Given the description of an element on the screen output the (x, y) to click on. 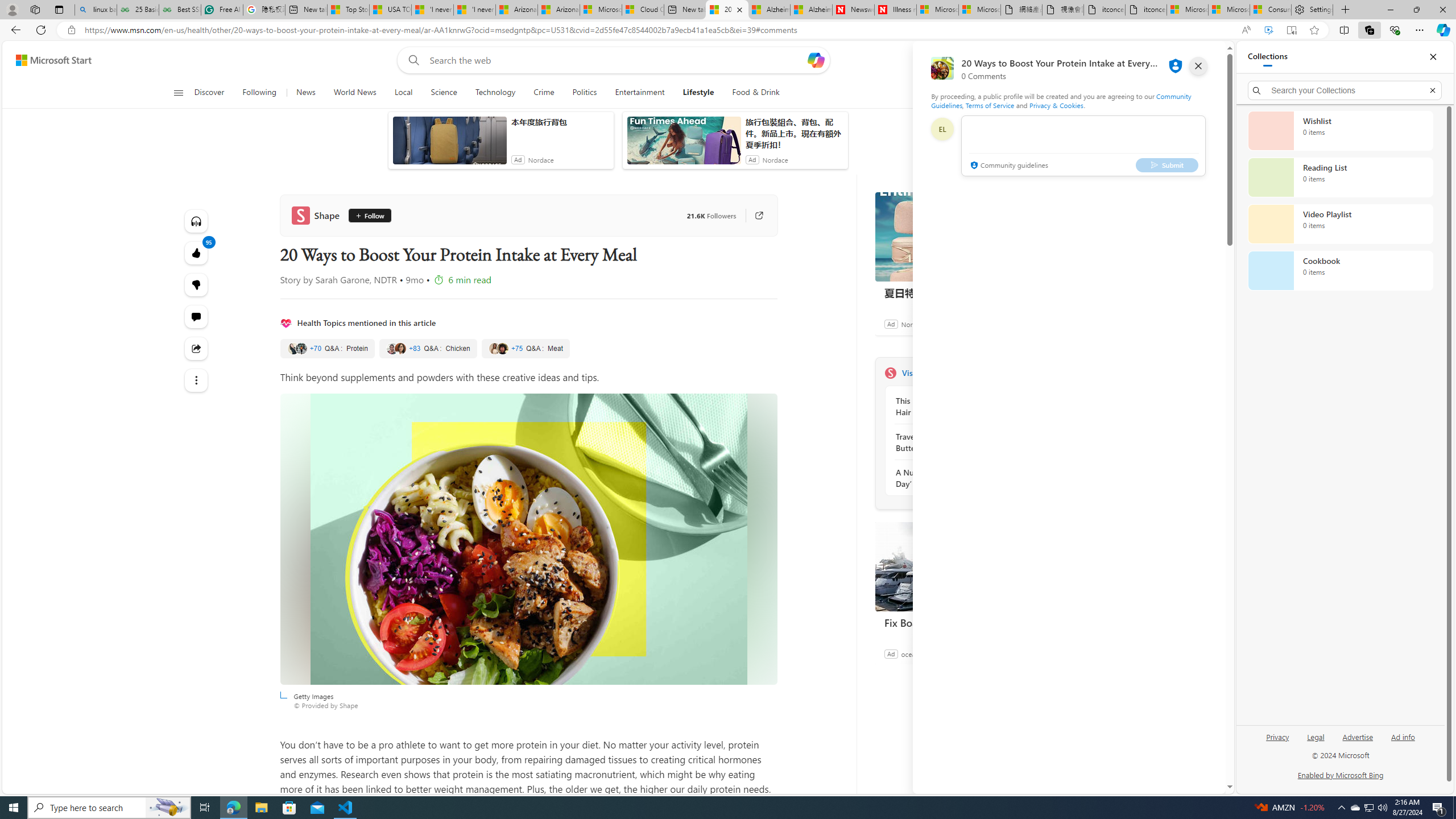
itconcepthk.com/projector_solutions.mp4 (1146, 9)
Consumer Health Data Privacy Policy (1269, 9)
25 Basic Linux Commands For Beginners - GeeksforGeeks (137, 9)
